Given the description of an element on the screen output the (x, y) to click on. 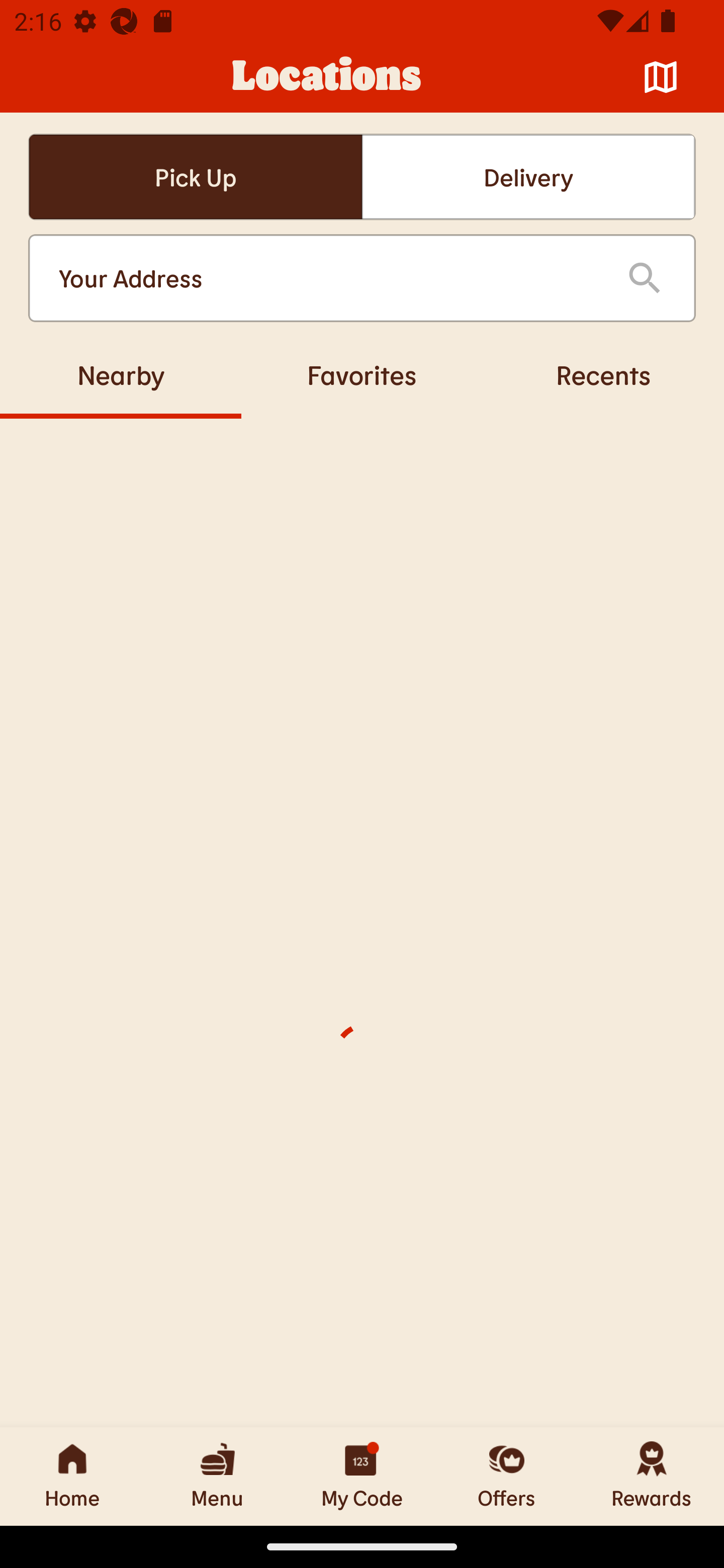
Map 󰦂 (660, 77)
Locations (326, 77)
Pick UpSelected Pick UpSelected Pick Up (195, 176)
Delivery Delivery Delivery (528, 176)
Your Address (327, 277)
Nearby (120, 374)
Favorites (361, 374)
Recents (603, 374)
Home (72, 1475)
Menu (216, 1475)
My Code (361, 1475)
Offers (506, 1475)
Rewards (651, 1475)
